Given the description of an element on the screen output the (x, y) to click on. 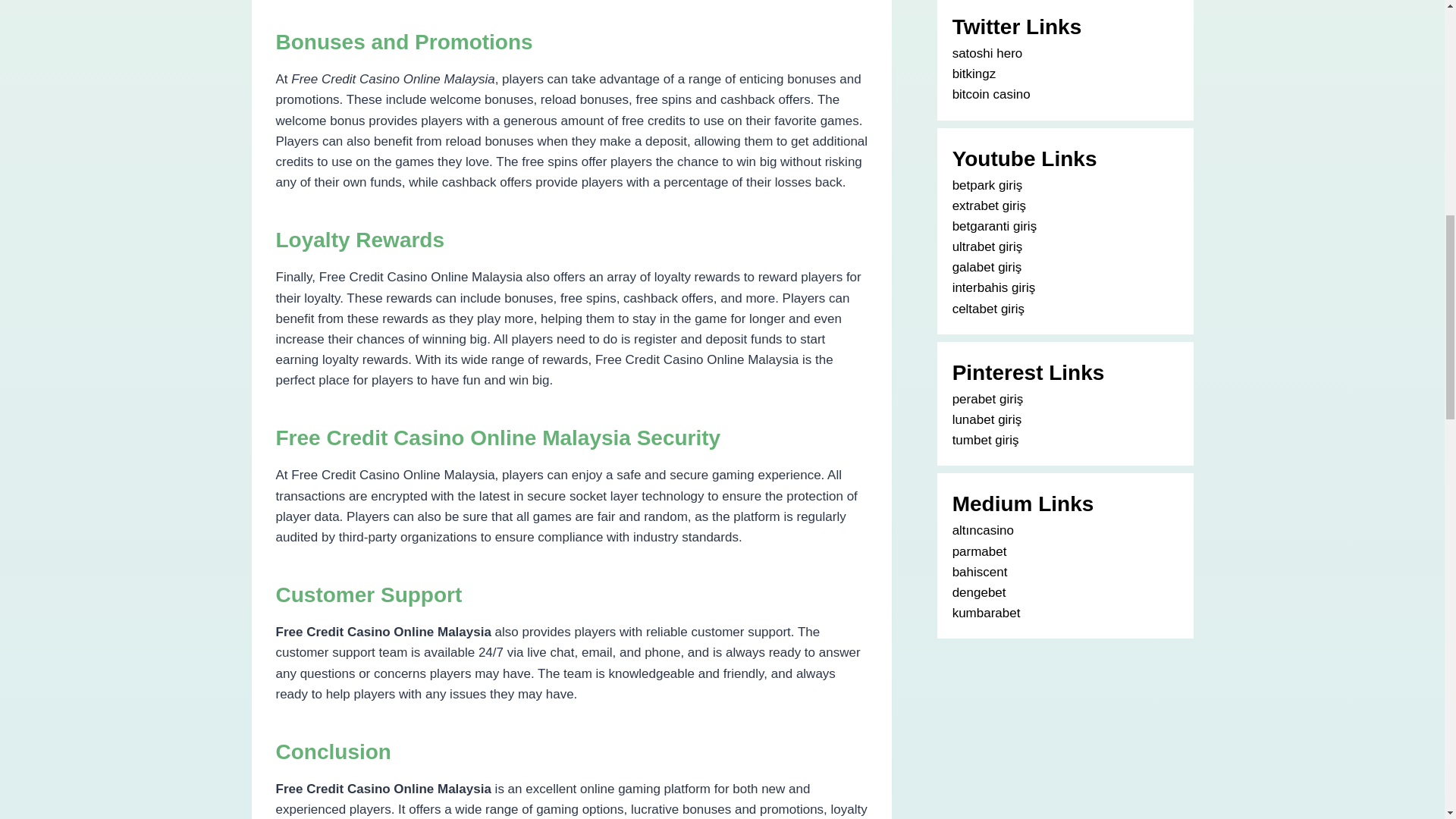
bitcoin casino (991, 93)
satoshi hero (987, 52)
bitkingz (973, 73)
